Given the description of an element on the screen output the (x, y) to click on. 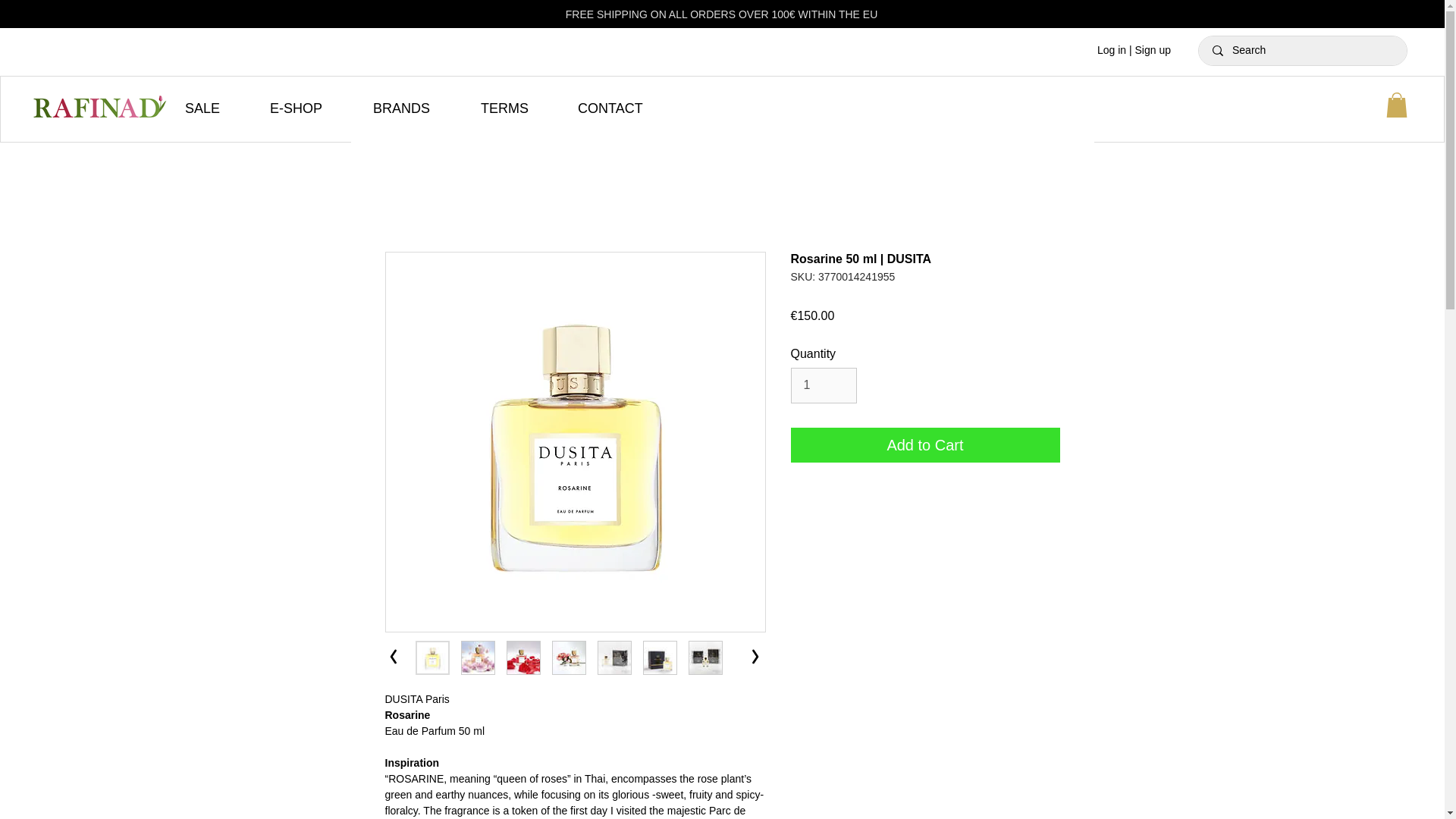
SALE (216, 108)
E-SHOP (310, 108)
1 (823, 384)
BRANDS (414, 108)
